Given the description of an element on the screen output the (x, y) to click on. 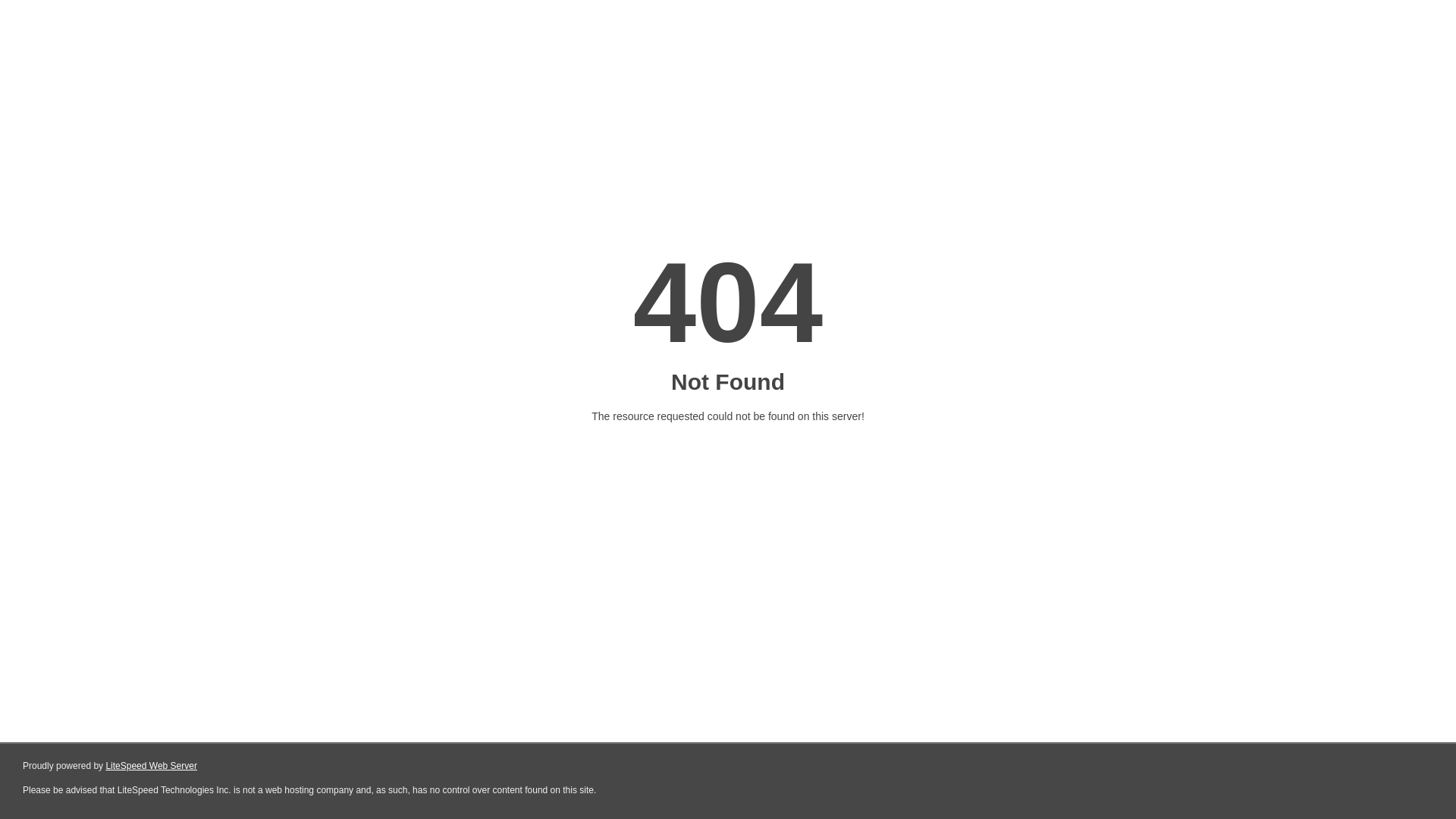
LiteSpeed Web Server Element type: text (151, 765)
